Given the description of an element on the screen output the (x, y) to click on. 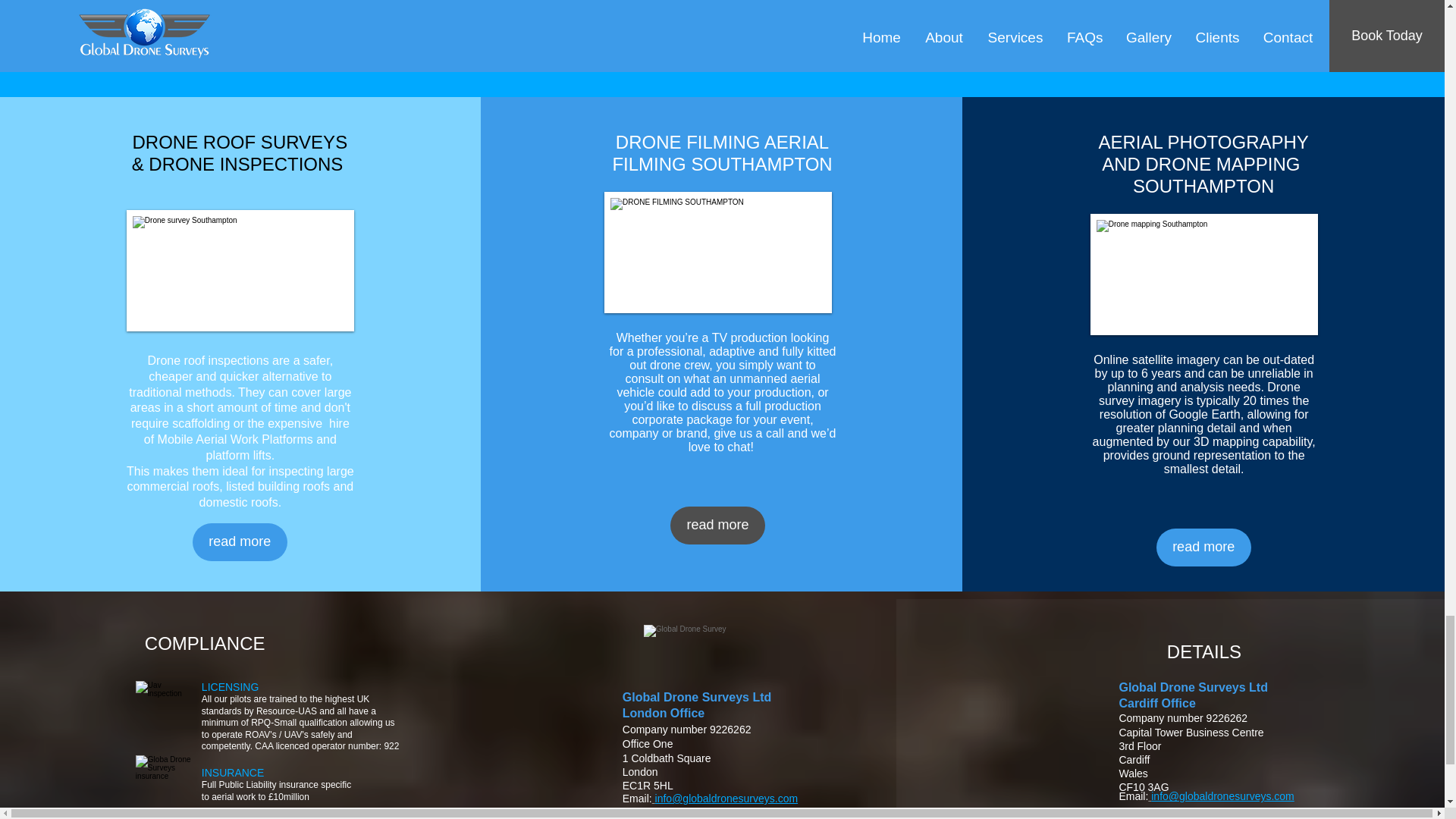
read more (1203, 547)
External Vimeo (721, 24)
read more (717, 525)
read more (239, 542)
